Given the description of an element on the screen output the (x, y) to click on. 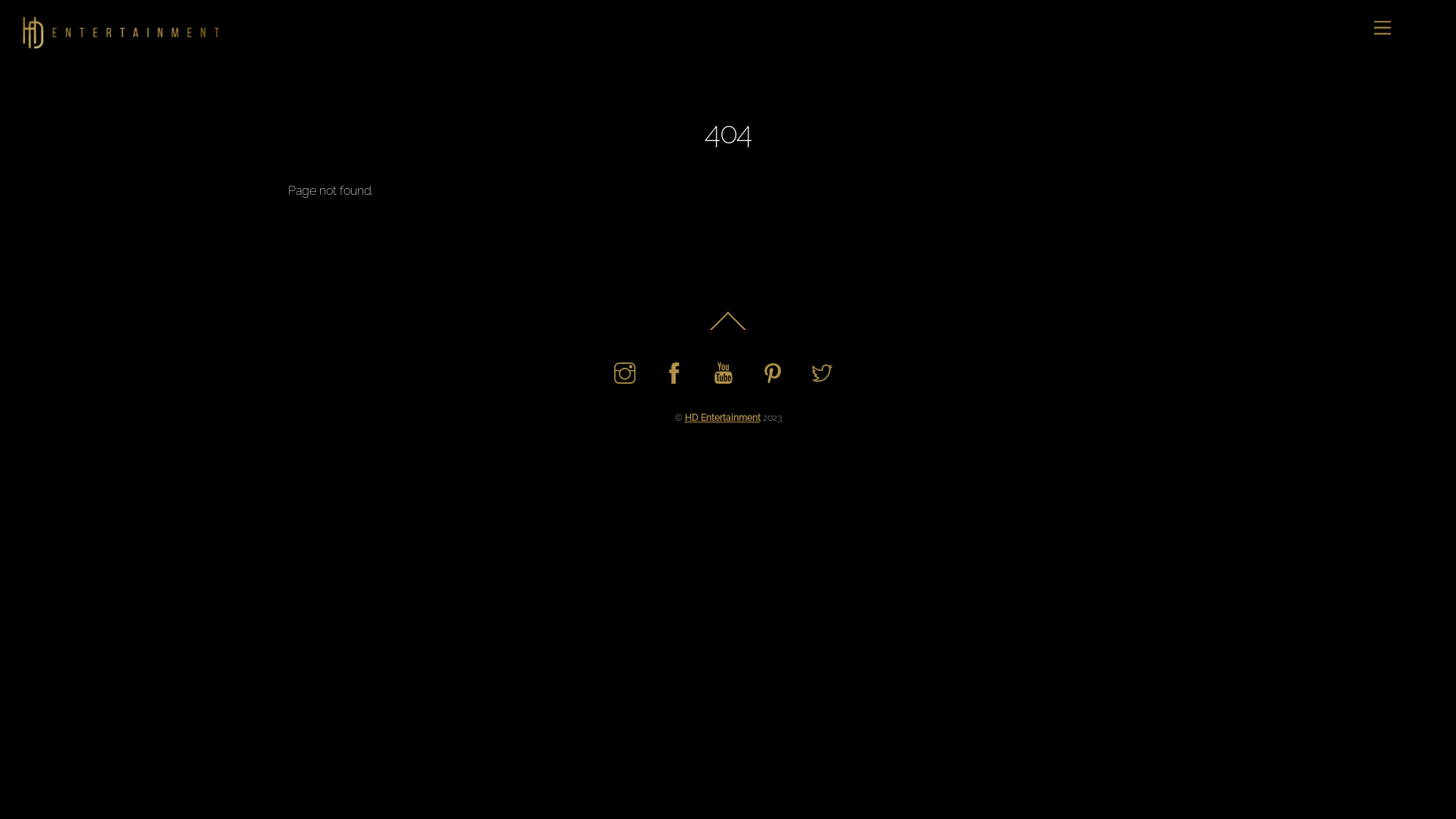
logo-hd-entertainment-gold_horizontal Element type: hover (113, 30)
HD Entertainment Element type: hover (113, 44)
Back To Top Element type: text (727, 328)
Menu Element type: text (1382, 28)
HD Entertainment Element type: text (721, 417)
